Given the description of an element on the screen output the (x, y) to click on. 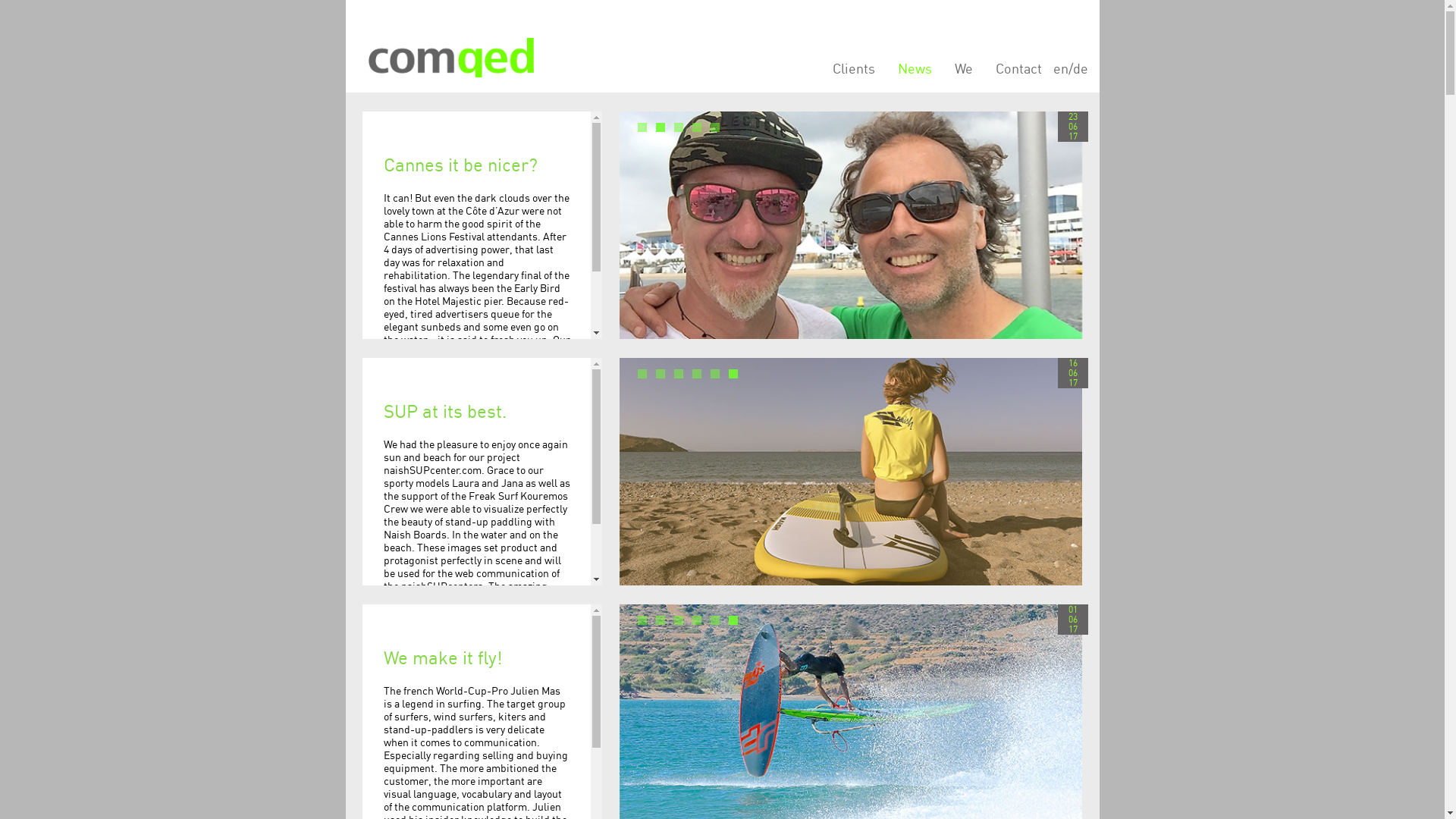
3 Element type: text (678, 373)
We Element type: text (963, 56)
Contact Element type: text (1018, 56)
de Element type: text (1079, 56)
News Element type: text (913, 56)
1 Element type: text (641, 619)
4 Element type: text (696, 619)
2 Element type: text (660, 126)
6 Element type: text (732, 373)
2 Element type: text (660, 373)
3 Element type: text (678, 619)
1 Element type: text (641, 373)
5 Element type: text (714, 619)
5 Element type: text (714, 126)
5 Element type: text (714, 373)
1 Element type: text (641, 126)
2 Element type: text (660, 619)
Clients Element type: text (852, 56)
4 Element type: text (696, 126)
en/ Element type: text (1062, 56)
6 Element type: text (732, 619)
3 Element type: text (678, 126)
4 Element type: text (696, 373)
